Given the description of an element on the screen output the (x, y) to click on. 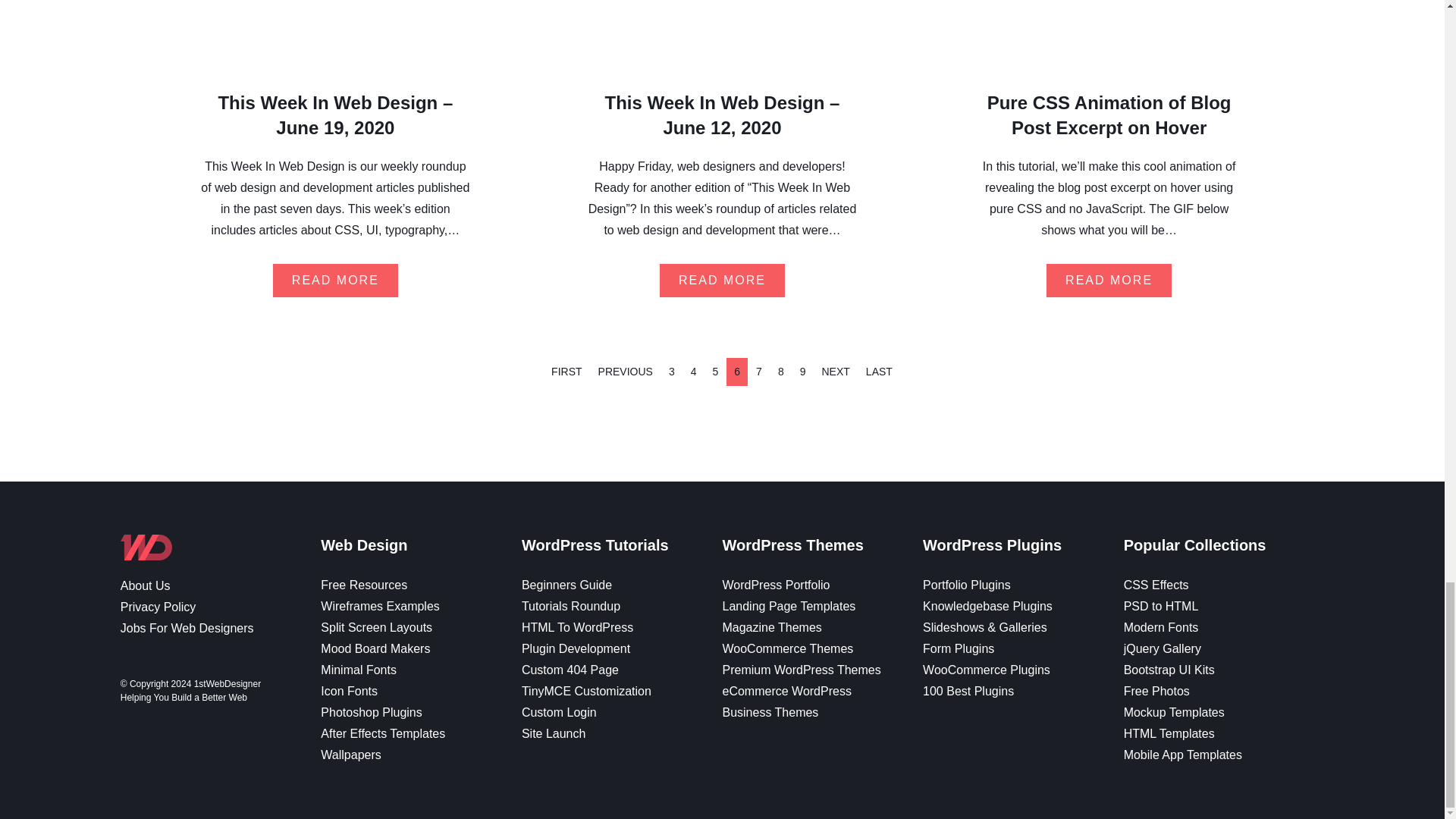
Pure CSS Animation of Blog Post Excerpt on Hover (1109, 115)
Last (879, 371)
First (566, 371)
1stWebDesigner (145, 553)
